Given the description of an element on the screen output the (x, y) to click on. 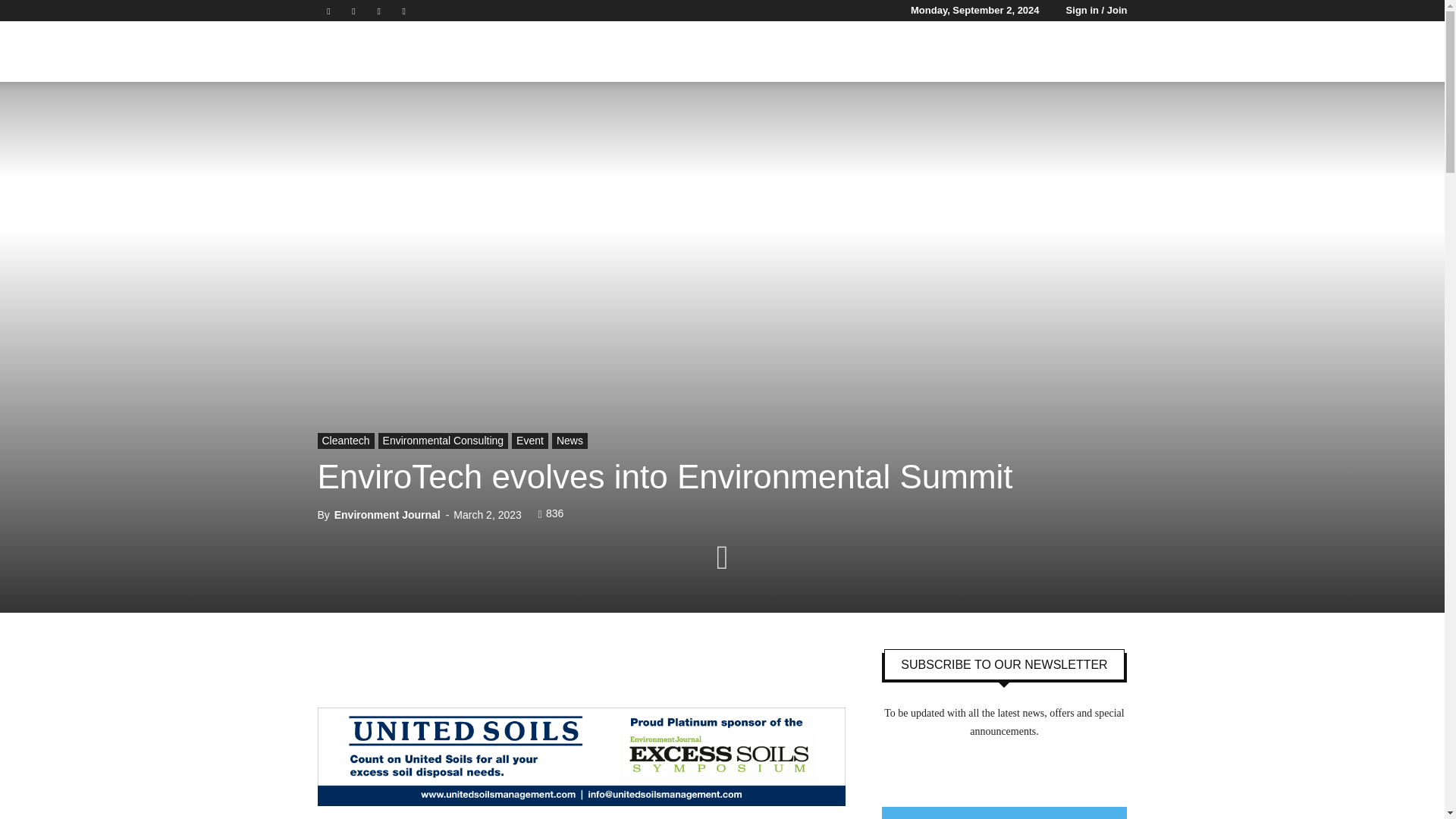
FEATURES (782, 51)
Facebook (328, 10)
Linkedin (353, 10)
Twitter (379, 10)
Search (1134, 124)
EVENTS (853, 51)
Youtube (403, 10)
SHOWCASE (926, 51)
SUBSCRIBE (1010, 51)
